Given the description of an element on the screen output the (x, y) to click on. 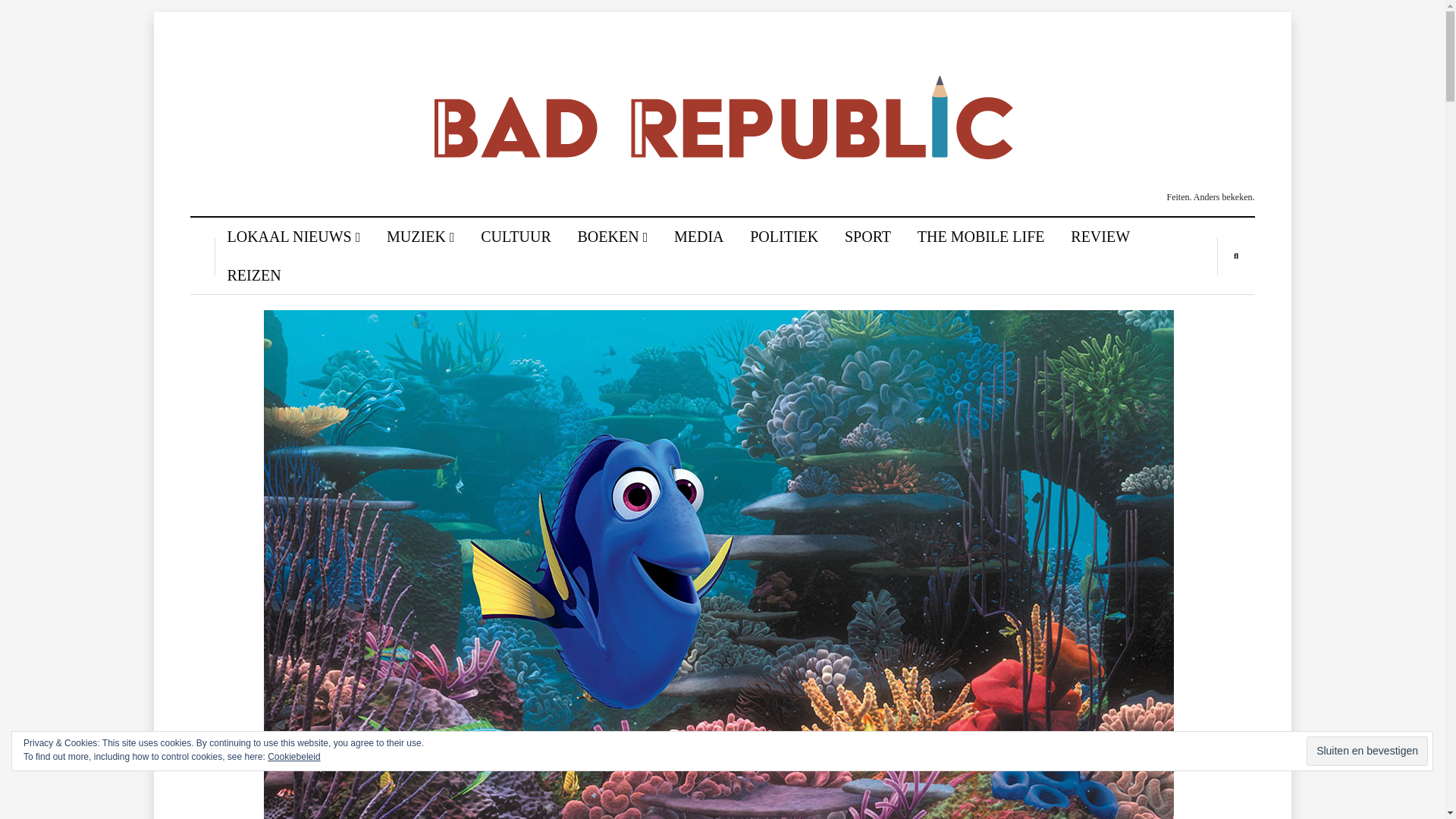
Sluiten en bevestigen (1367, 750)
